Given the description of an element on the screen output the (x, y) to click on. 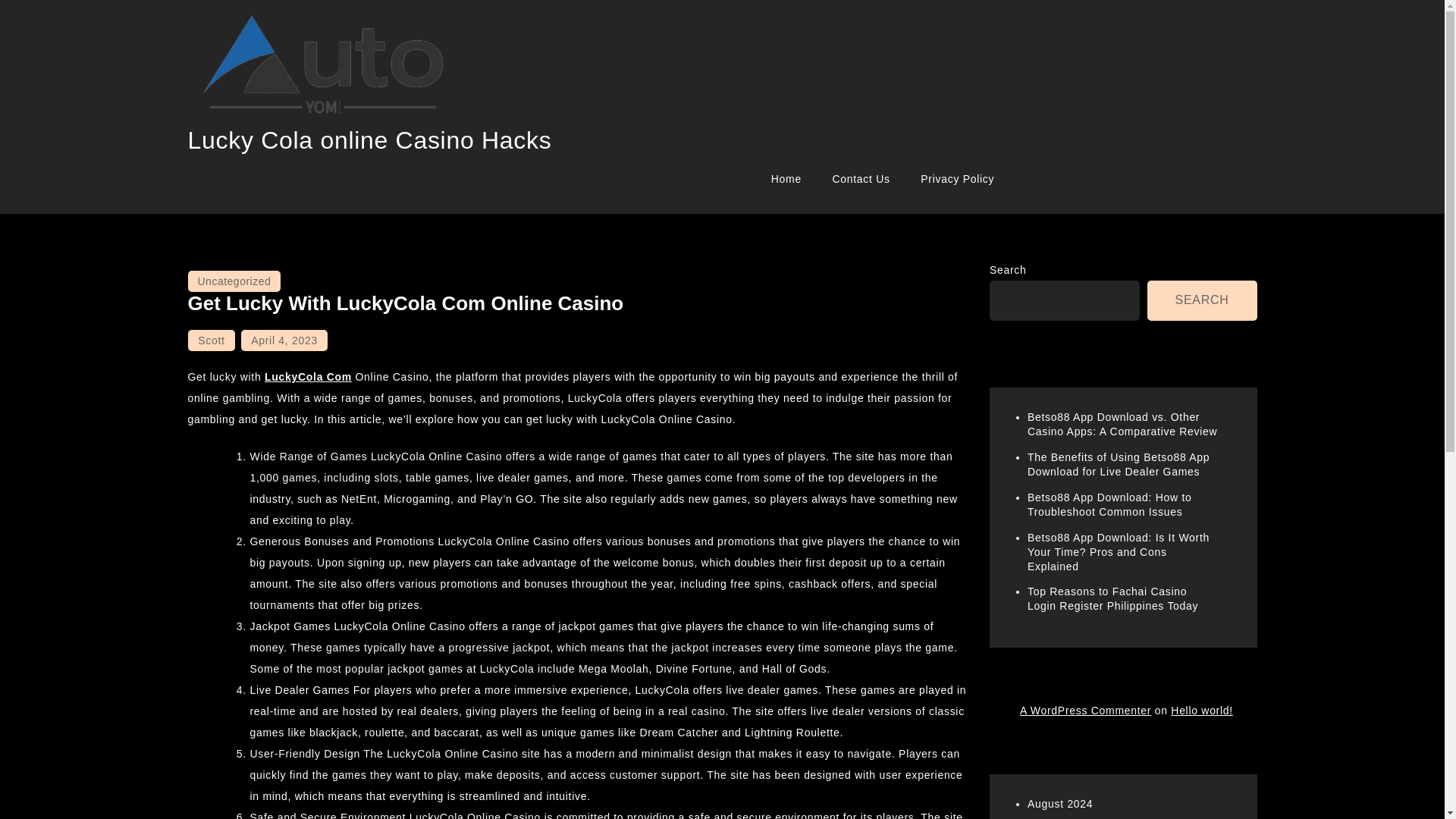
Hello world! (1201, 710)
April 4, 2023 (284, 340)
SEARCH (1202, 300)
Betso88 App Download: How to Troubleshoot Common Issues (1109, 504)
Privacy Policy (957, 178)
Scott (210, 340)
